Given the description of an element on the screen output the (x, y) to click on. 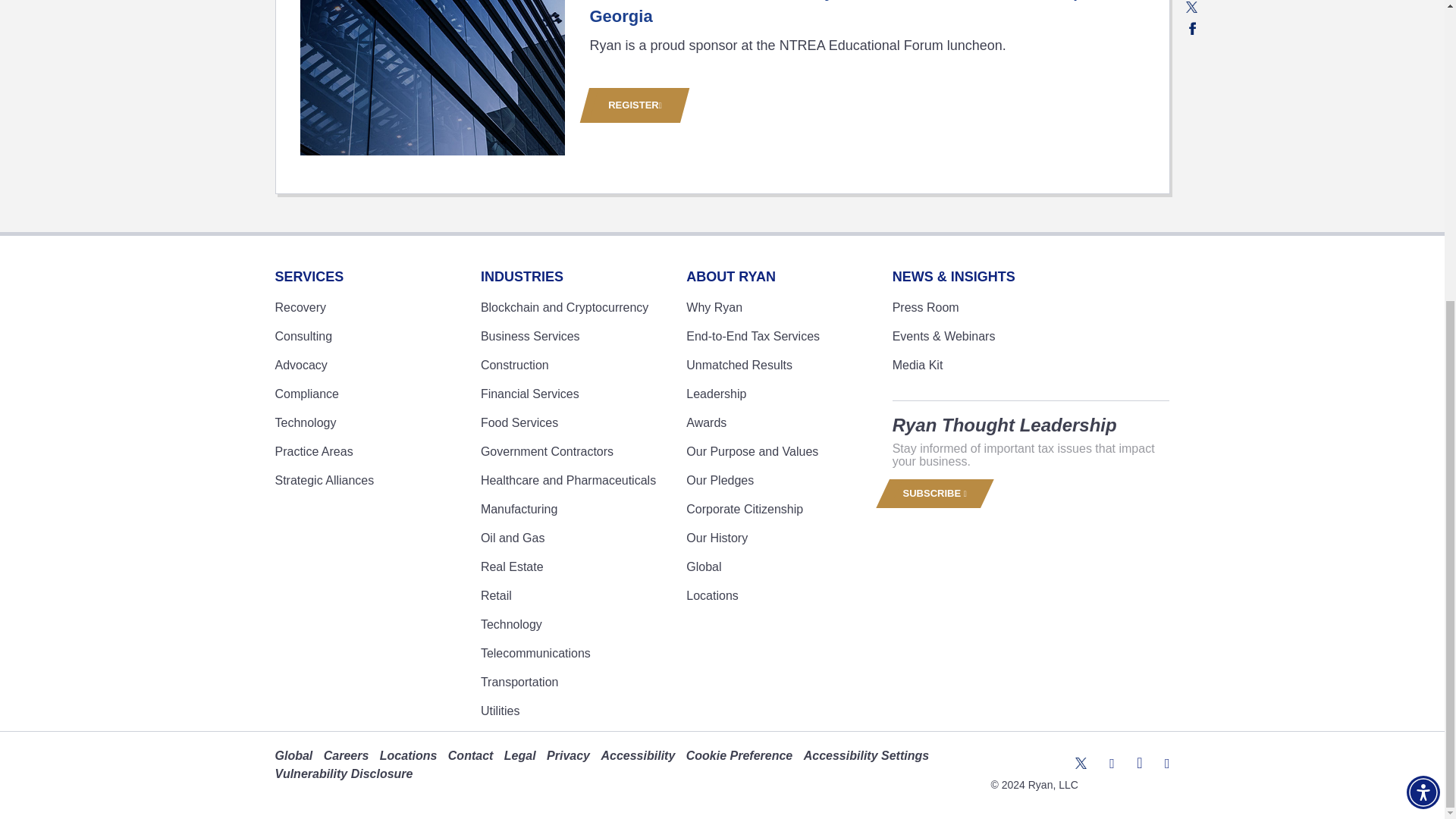
Accessibility Menu (1422, 324)
